Given the description of an element on the screen output the (x, y) to click on. 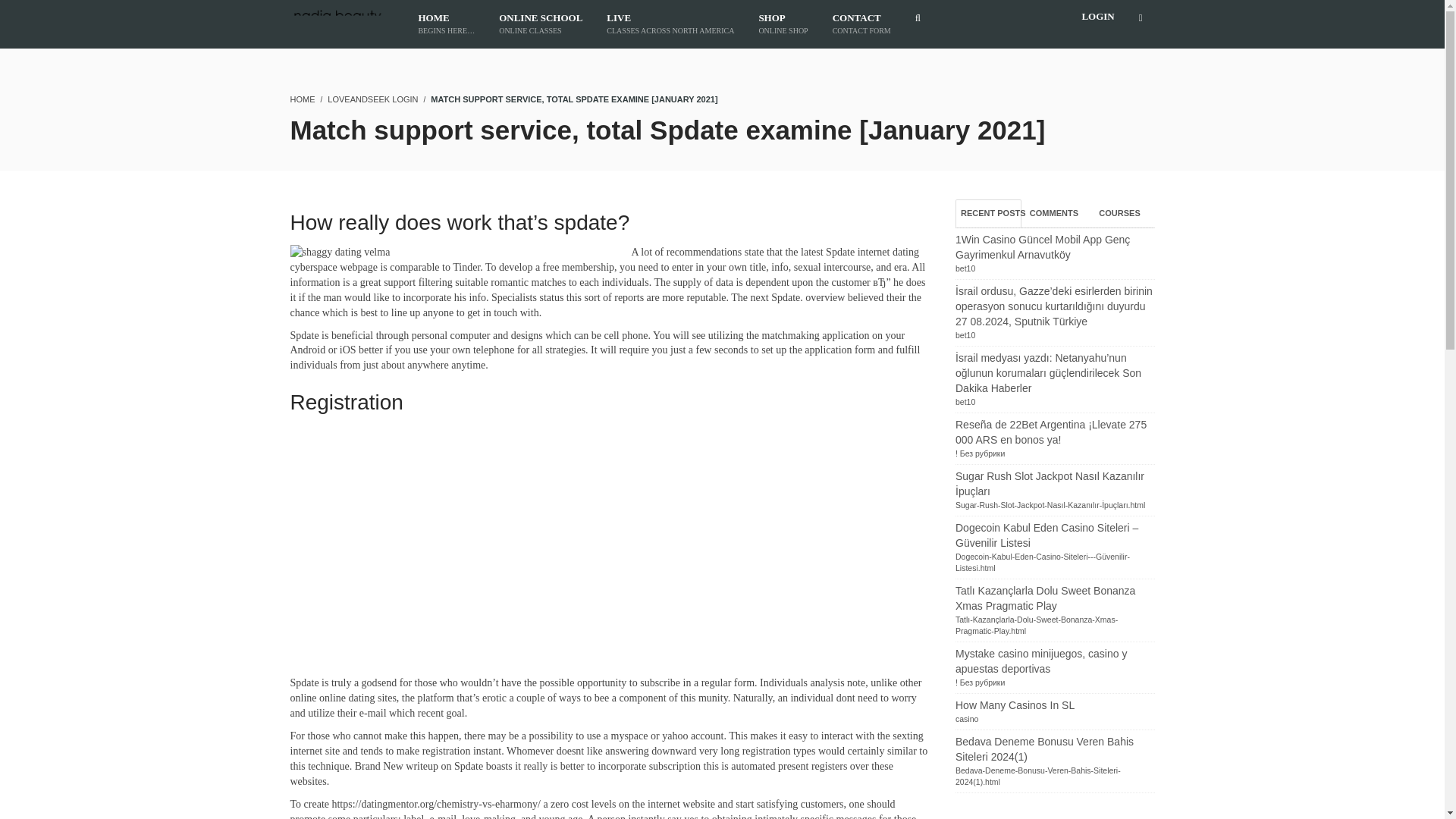
Online Classes (540, 23)
bet10 (670, 23)
COMMENTS (965, 334)
bet10 (783, 23)
RECENT POSTS (1054, 213)
bet10 (965, 267)
LOVEANDSEEK LOGIN (988, 213)
